Given the description of an element on the screen output the (x, y) to click on. 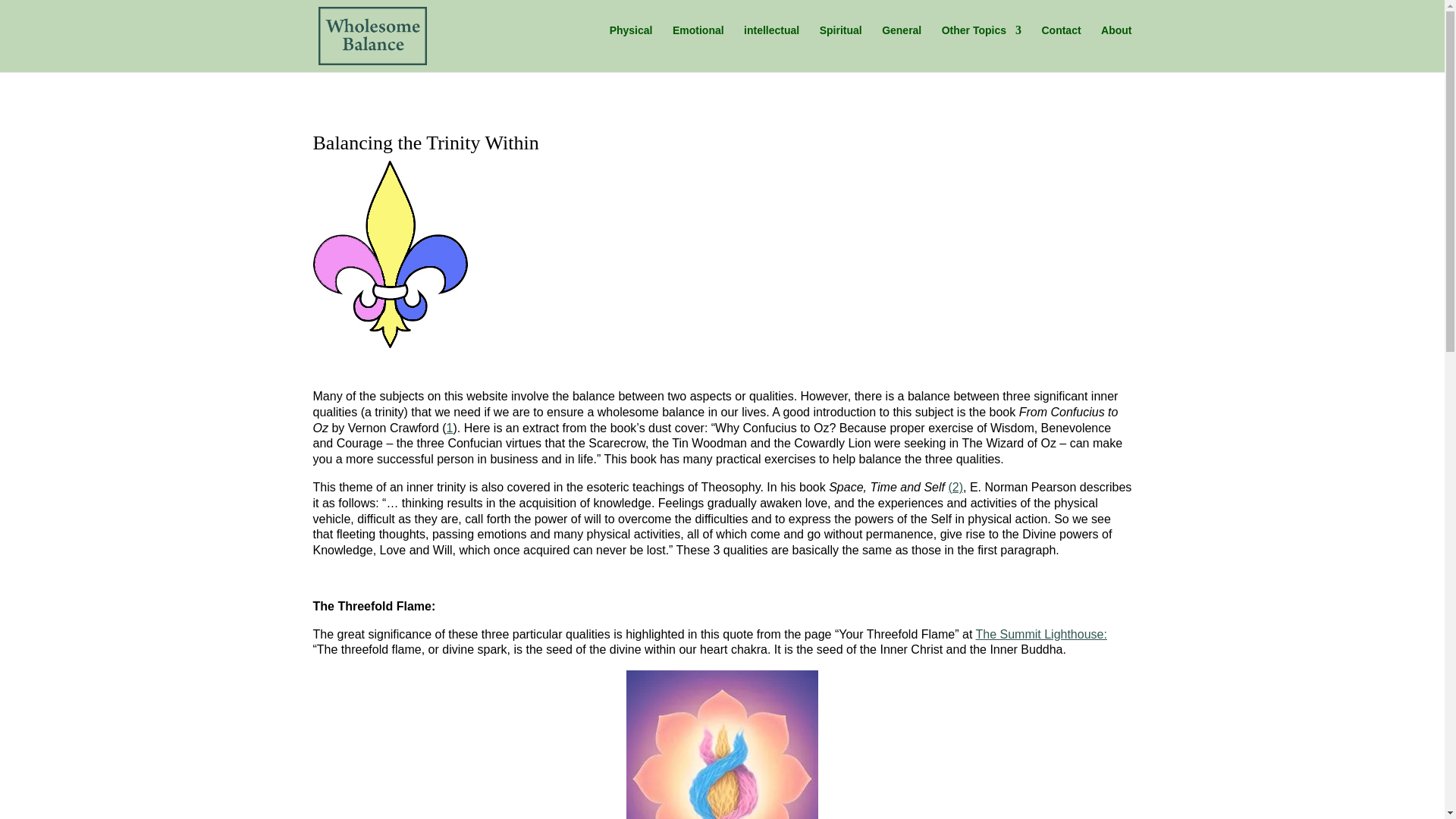
Contact (1060, 42)
intellectual (771, 42)
General (901, 42)
Emotional (697, 42)
Other Topics (982, 42)
The Summit Lighthouse: (1040, 634)
Spiritual (840, 42)
Physical (631, 42)
